Given the description of an element on the screen output the (x, y) to click on. 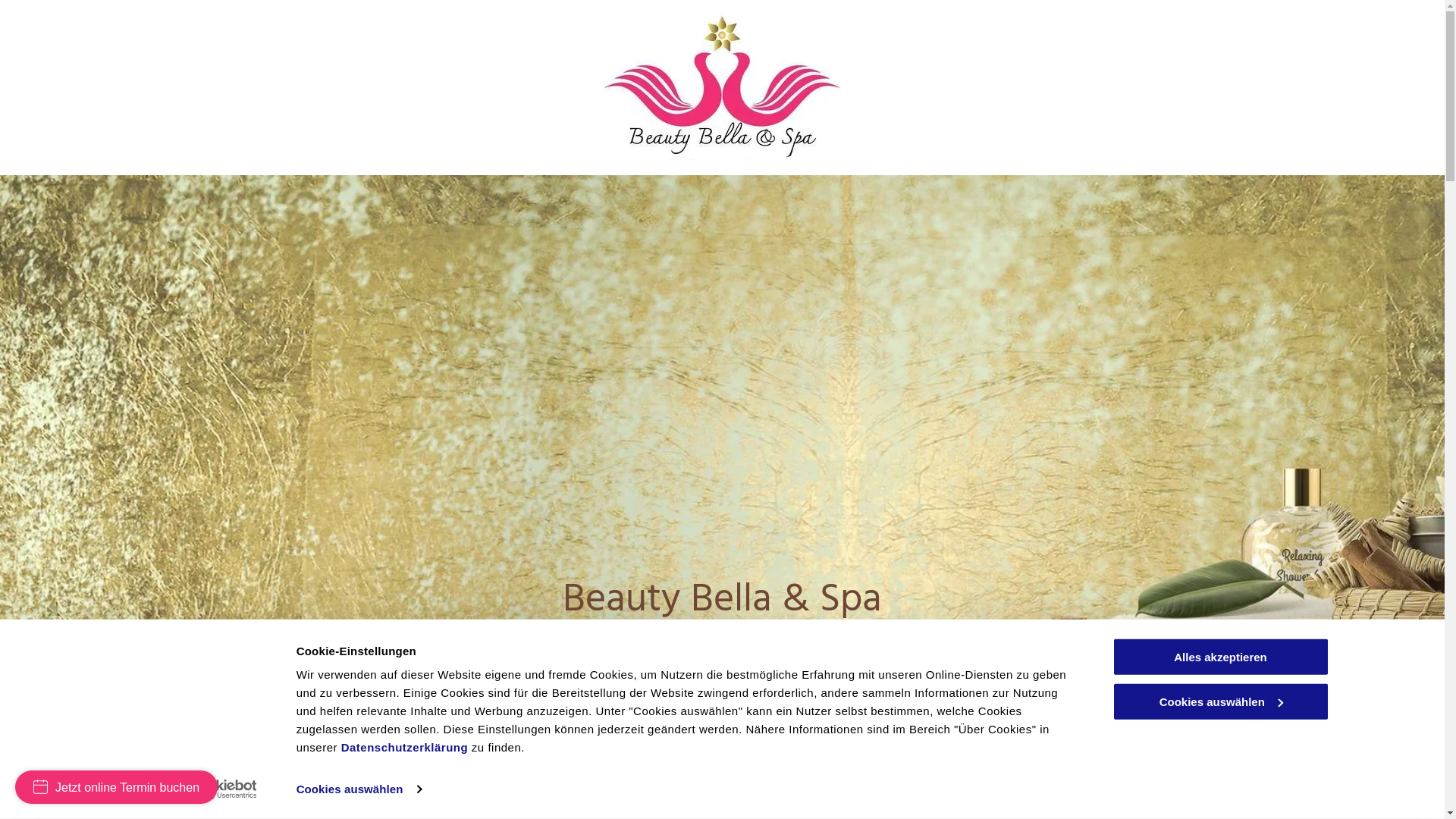
Alles akzeptieren Element type: text (1219, 656)
Jetzt online Termin buchen Element type: text (116, 786)
